Given the description of an element on the screen output the (x, y) to click on. 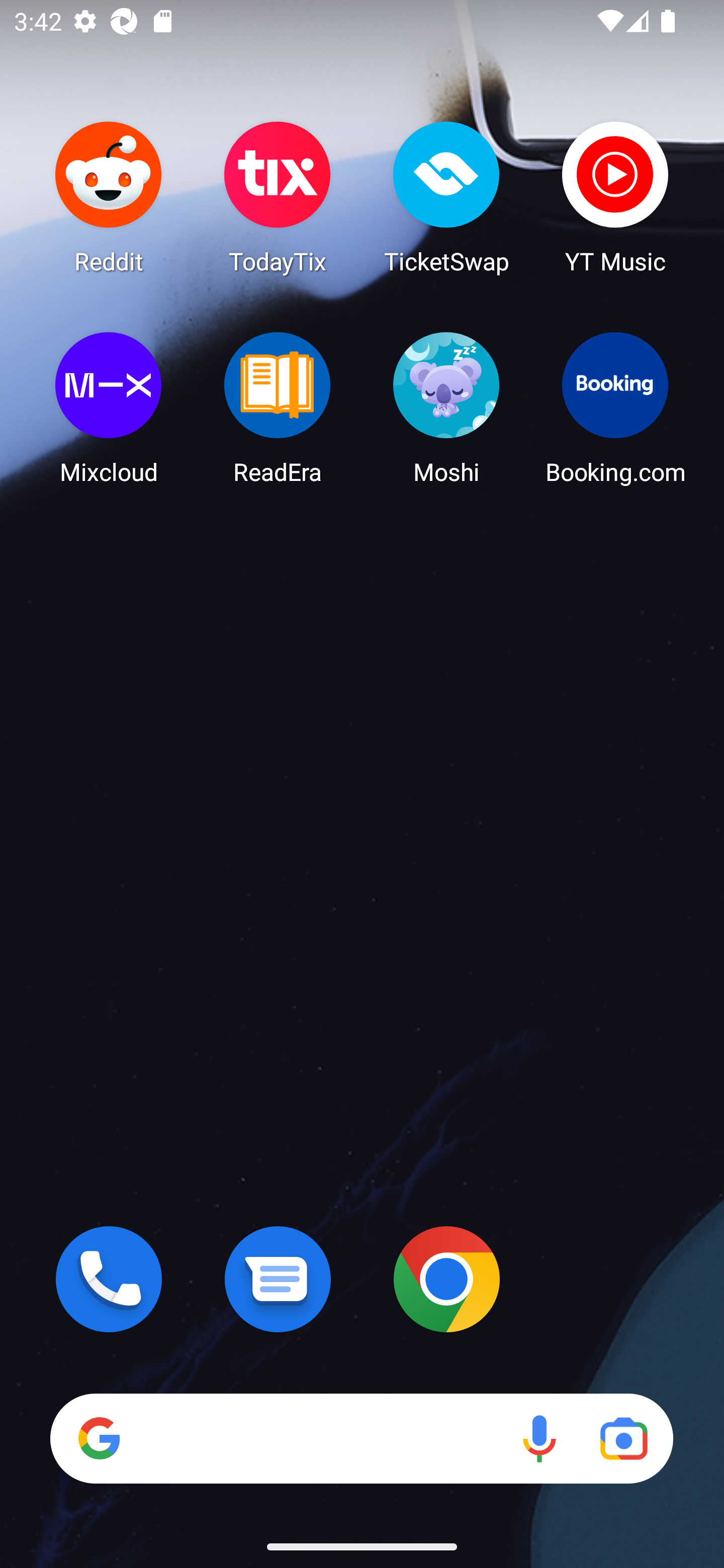
Reddit (108, 196)
TodayTix (277, 196)
TicketSwap (445, 196)
YT Music (615, 196)
Mixcloud (108, 407)
ReadEra (277, 407)
Moshi (445, 407)
Booking.com (615, 407)
Phone (108, 1279)
Messages (277, 1279)
Chrome (446, 1279)
Search Voice search Google Lens (361, 1438)
Voice search (539, 1438)
Google Lens (623, 1438)
